Given the description of an element on the screen output the (x, y) to click on. 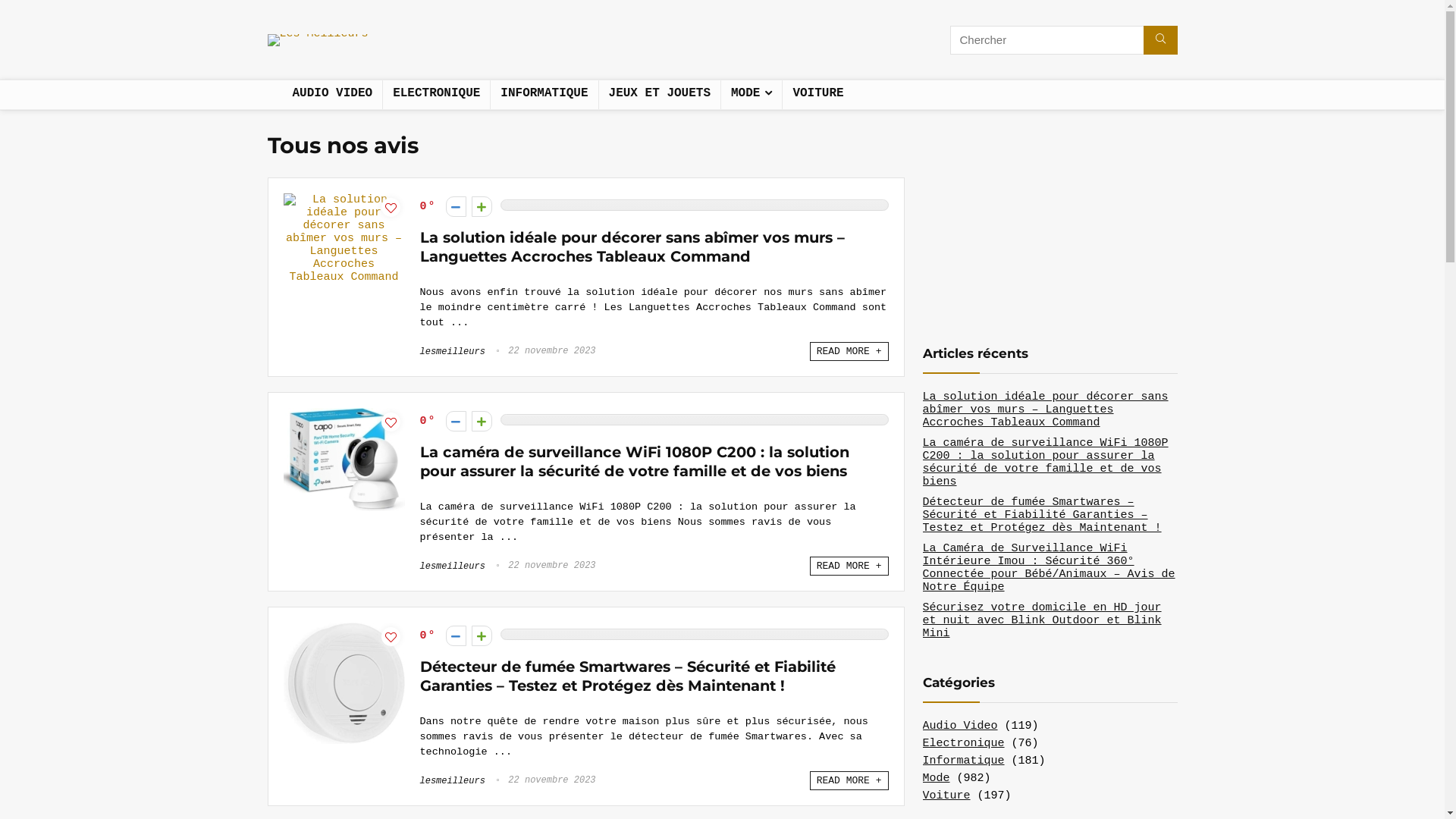
INFORMATIQUE Element type: text (543, 94)
Voter pour Element type: hover (481, 206)
Advertisement Element type: hover (1035, 219)
Informatique Element type: text (963, 760)
Audio Video Element type: text (959, 725)
Advertisement Element type: hover (556, 41)
JEUX ET JOUETS Element type: text (659, 94)
ELECTRONIQUE Element type: text (435, 94)
READ MORE + Element type: text (848, 565)
Voter contre Element type: hover (455, 635)
lesmeilleurs Element type: text (452, 566)
READ MORE + Element type: text (848, 351)
Voiture Element type: text (945, 795)
MODE Element type: text (751, 94)
lesmeilleurs Element type: text (452, 780)
Voter contre Element type: hover (455, 206)
Voter pour Element type: hover (481, 421)
Voter contre Element type: hover (455, 421)
AUDIO VIDEO Element type: text (332, 94)
Voter pour Element type: hover (481, 635)
Electronique Element type: text (963, 743)
Mode Element type: text (935, 777)
READ MORE + Element type: text (848, 780)
lesmeilleurs Element type: text (452, 351)
VOITURE Element type: text (817, 94)
